Given the description of an element on the screen output the (x, y) to click on. 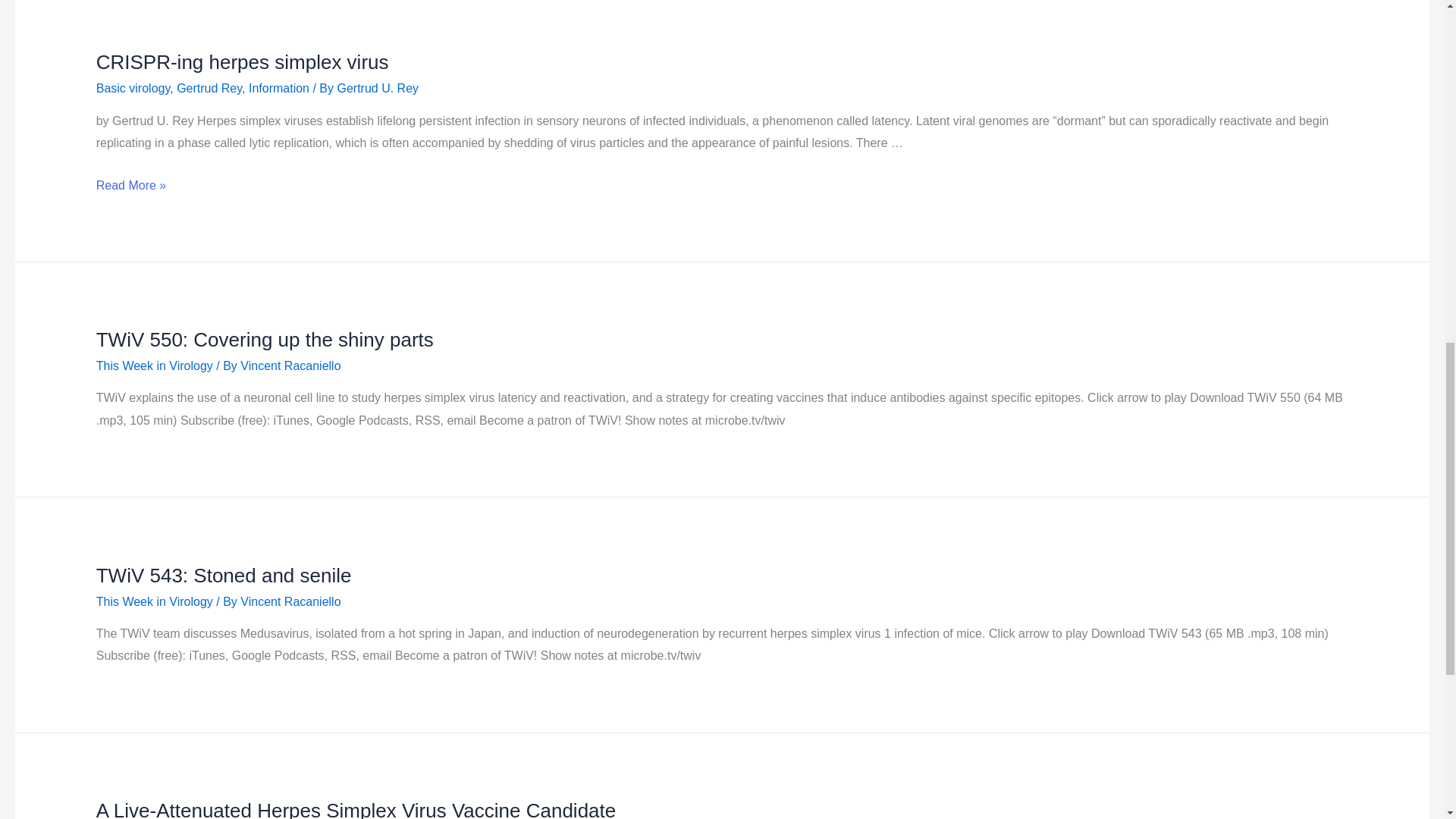
View all posts by Vincent Racaniello (290, 601)
View all posts by Gertrud U. Rey (377, 88)
View all posts by Vincent Racaniello (290, 365)
